Given the description of an element on the screen output the (x, y) to click on. 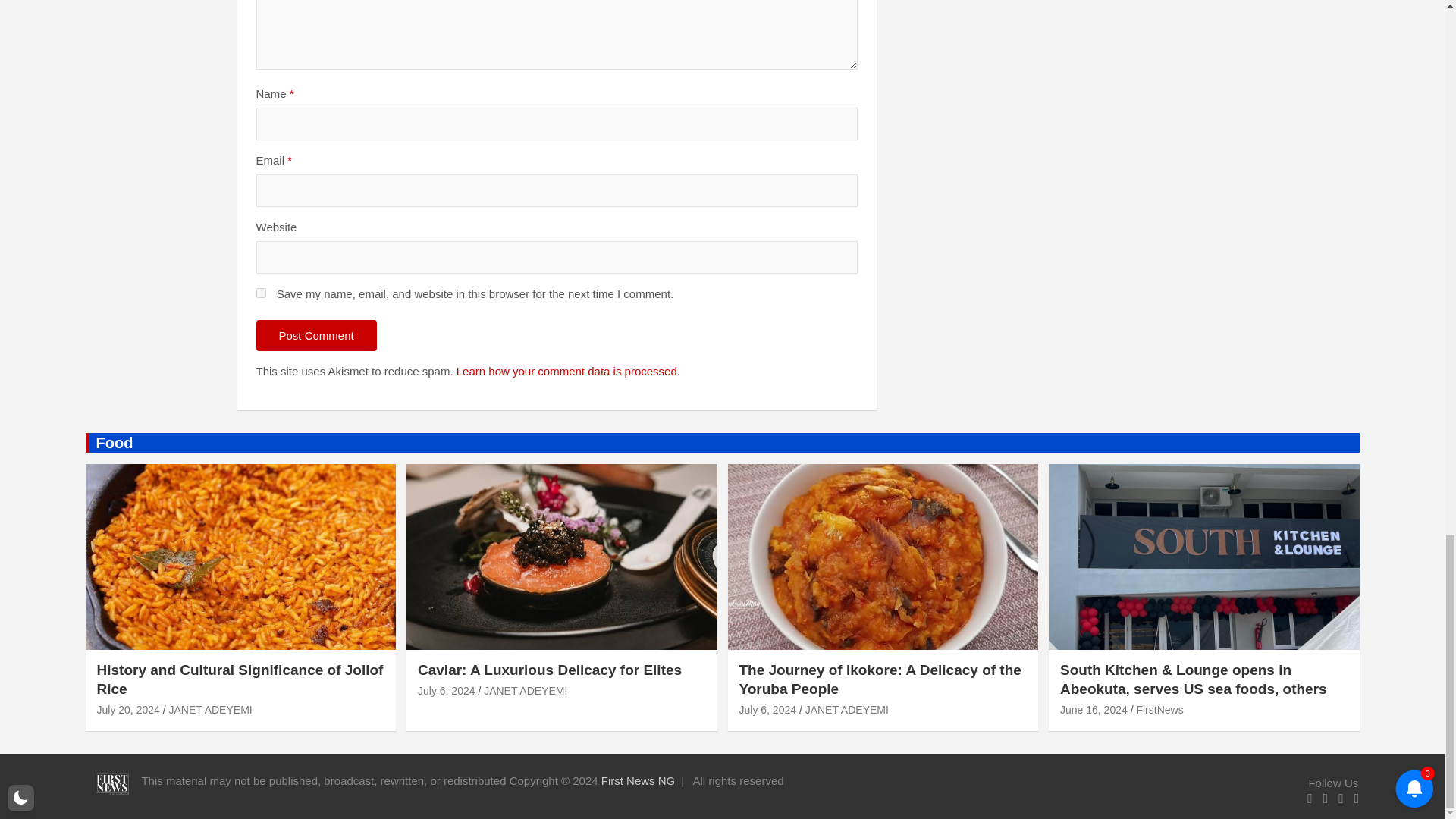
History and Cultural Significance of Jollof Rice (128, 709)
The Journey of Ikokore: A Delicacy of the Yoruba People (767, 709)
Caviar: A Luxurious Delicacy for Elites (446, 690)
Post Comment (316, 335)
yes (261, 293)
Post Comment (316, 335)
First News NG (638, 780)
